Given the description of an element on the screen output the (x, y) to click on. 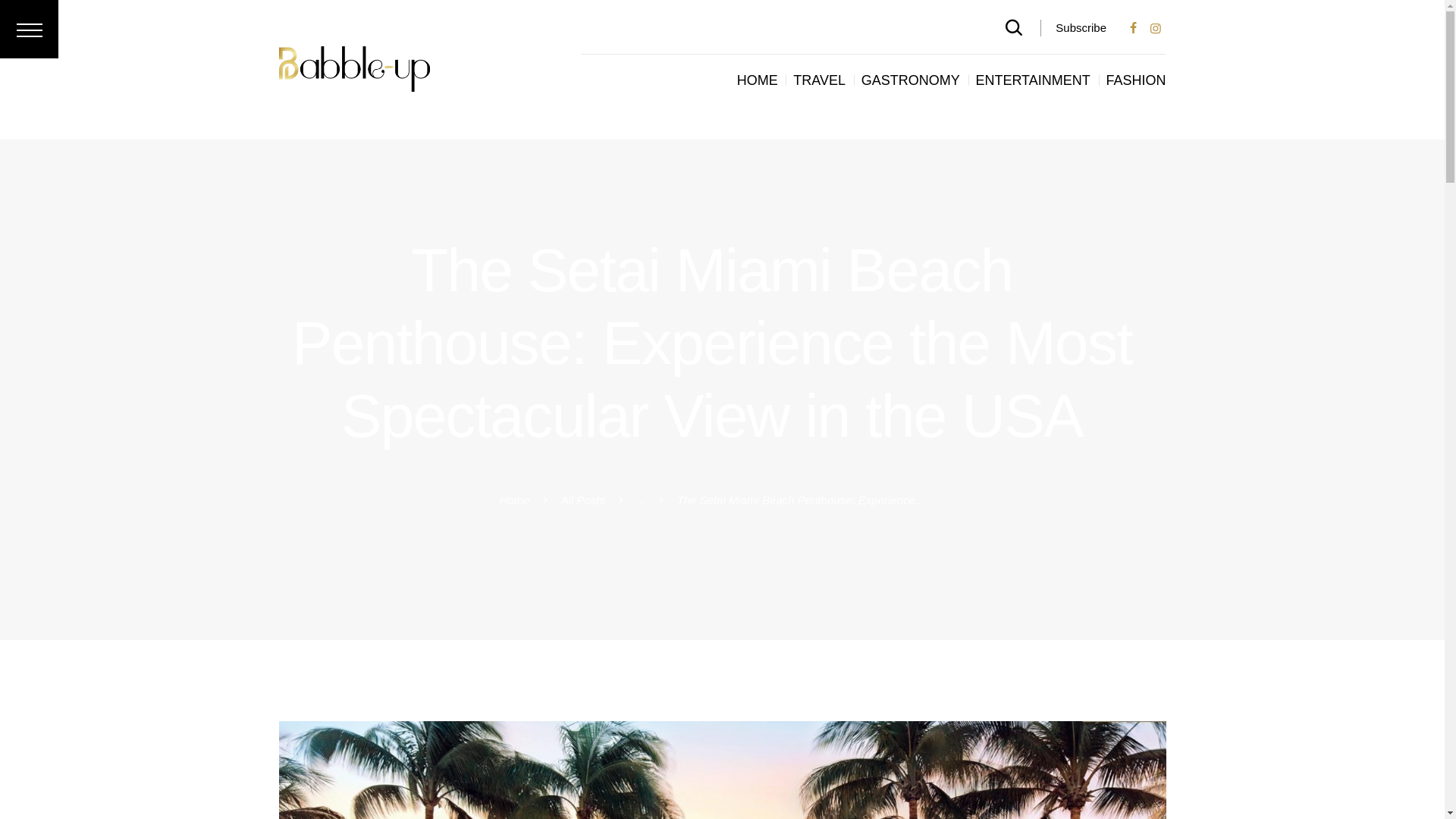
ENTERTAINMENT (1032, 80)
All Posts (582, 499)
FASHION (1135, 80)
Home (514, 500)
GASTRONOMY (910, 80)
TRAVEL (819, 80)
HOME (756, 80)
